Given the description of an element on the screen output the (x, y) to click on. 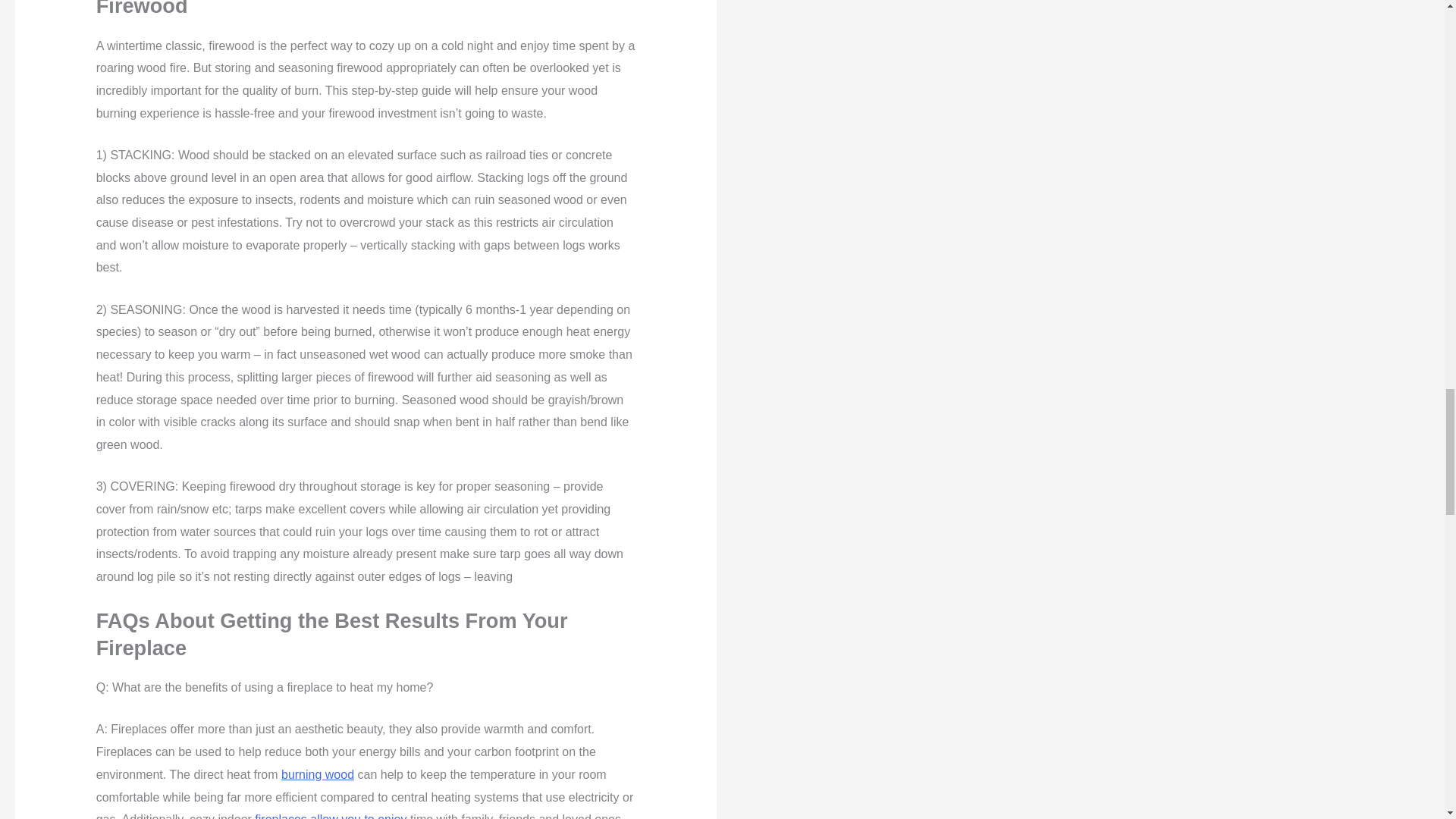
burning wood (317, 774)
fireplaces allow you to enjoy (330, 816)
